Given the description of an element on the screen output the (x, y) to click on. 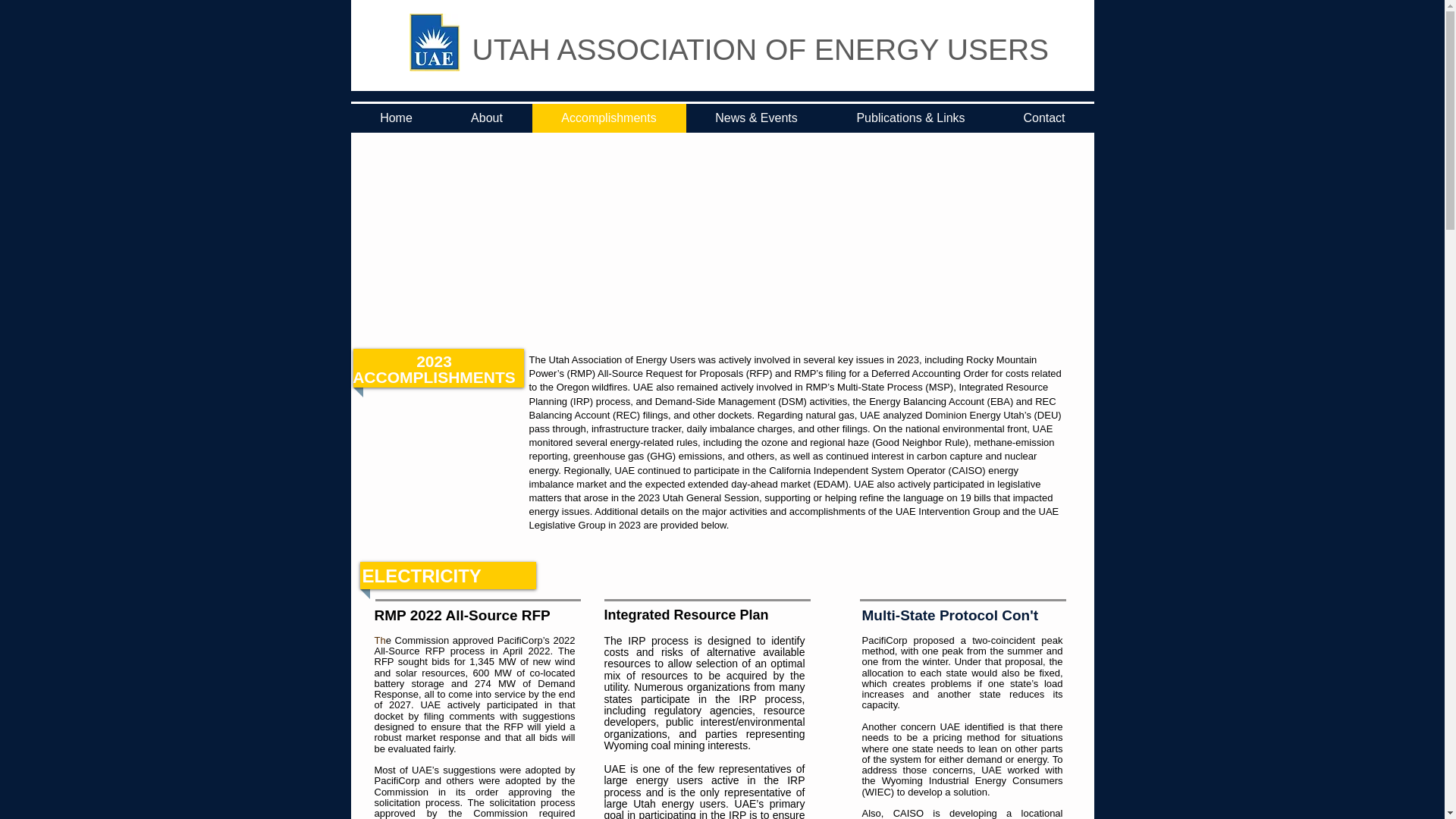
Contact (1044, 118)
Accomplishments (608, 118)
About (486, 118)
Home (395, 118)
